Given the description of an element on the screen output the (x, y) to click on. 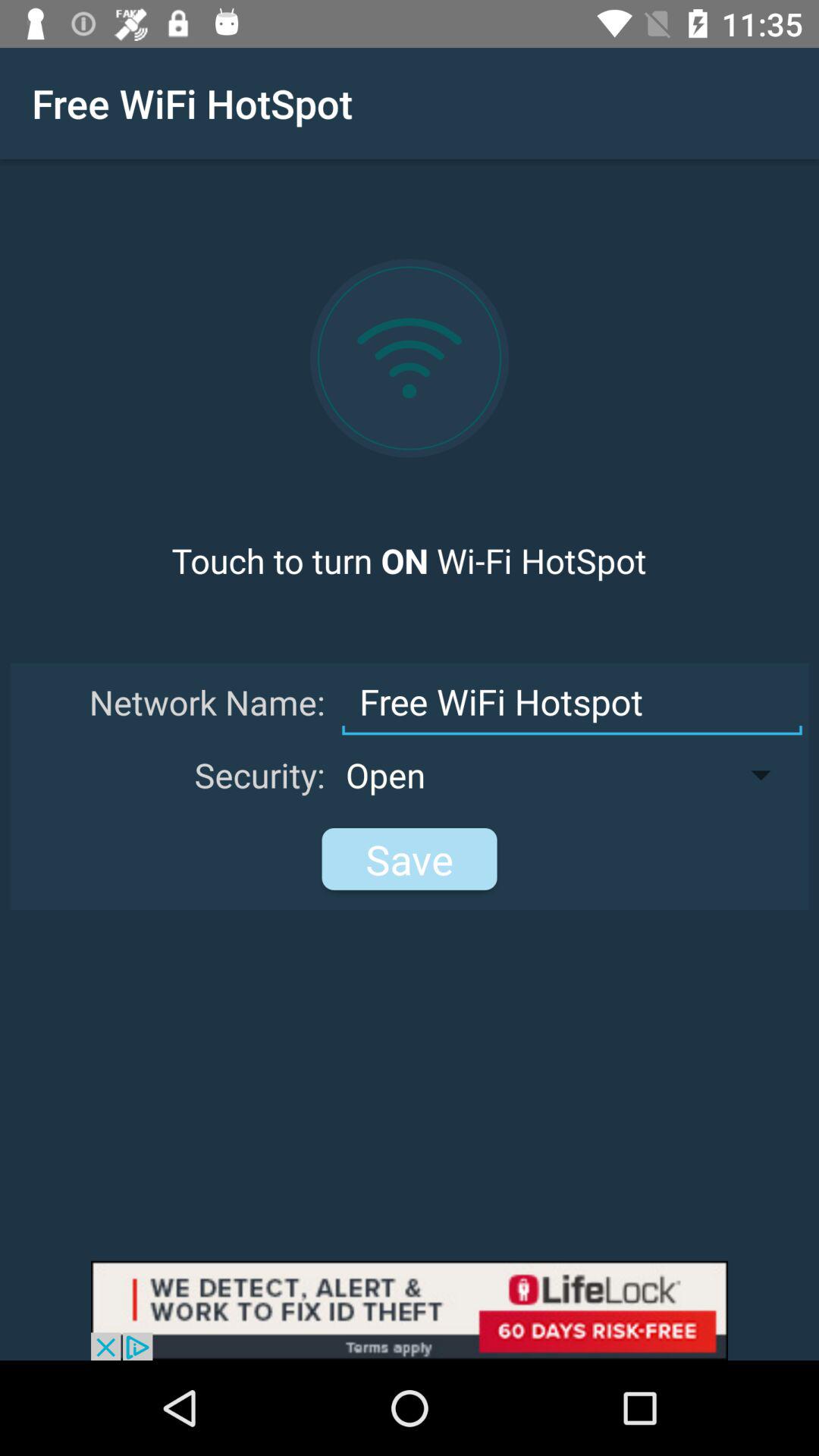
open advertisement (409, 1310)
